Given the description of an element on the screen output the (x, y) to click on. 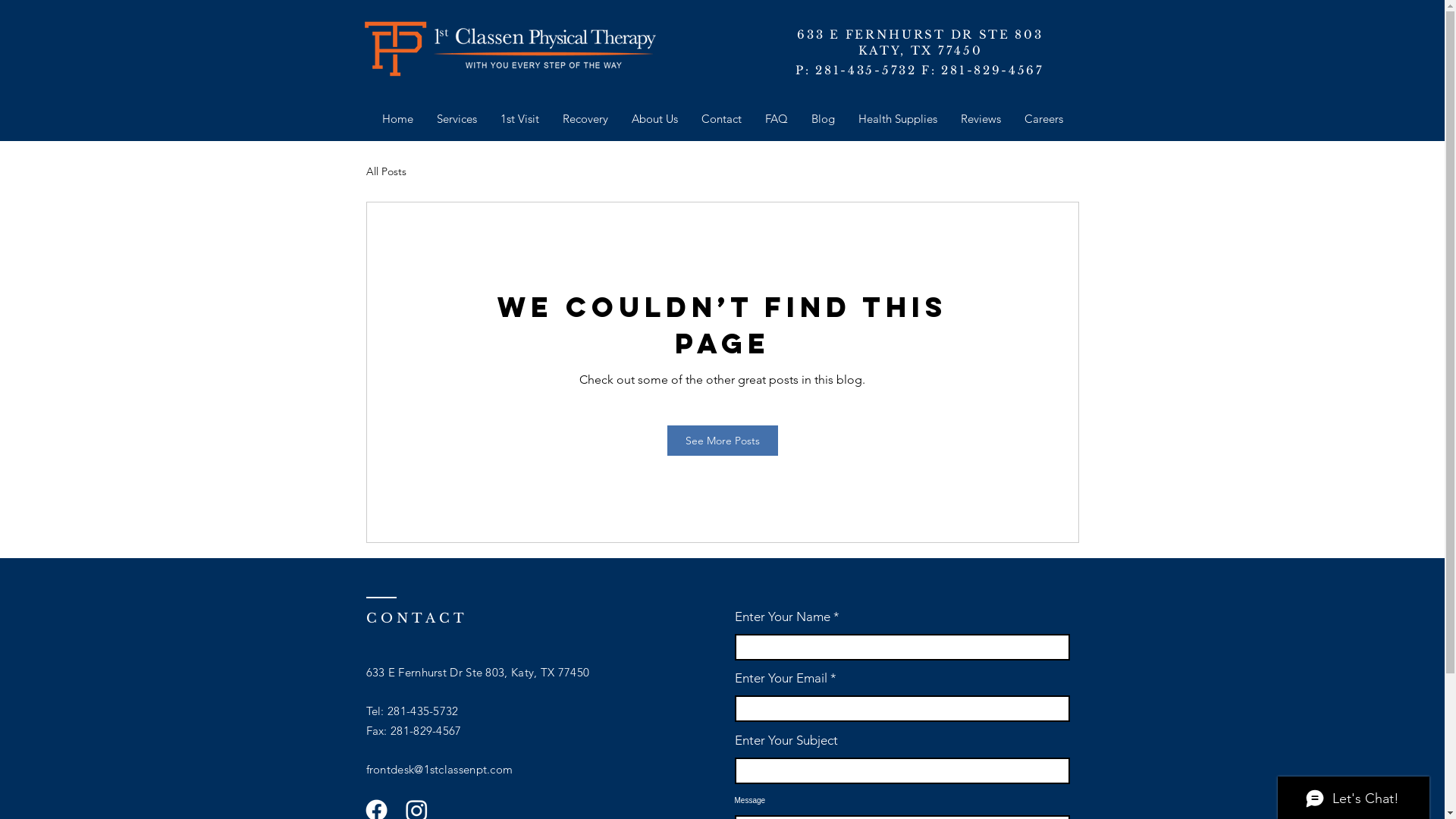
Careers Element type: text (1044, 119)
About Us Element type: text (655, 119)
Contact Element type: text (721, 119)
Home Element type: text (397, 119)
FAQ Element type: text (776, 119)
frontdesk@1stclassenpt.com Element type: text (438, 769)
Lettering.png Element type: hover (545, 48)
All Posts Element type: text (385, 171)
Recovery Element type: text (584, 119)
Health Supplies Element type: text (897, 119)
See More Posts Element type: text (722, 440)
1st Visit Element type: text (519, 119)
Reviews Element type: text (981, 119)
Services Element type: text (456, 119)
pt.png Element type: hover (395, 49)
Blog Element type: text (822, 119)
